Given the description of an element on the screen output the (x, y) to click on. 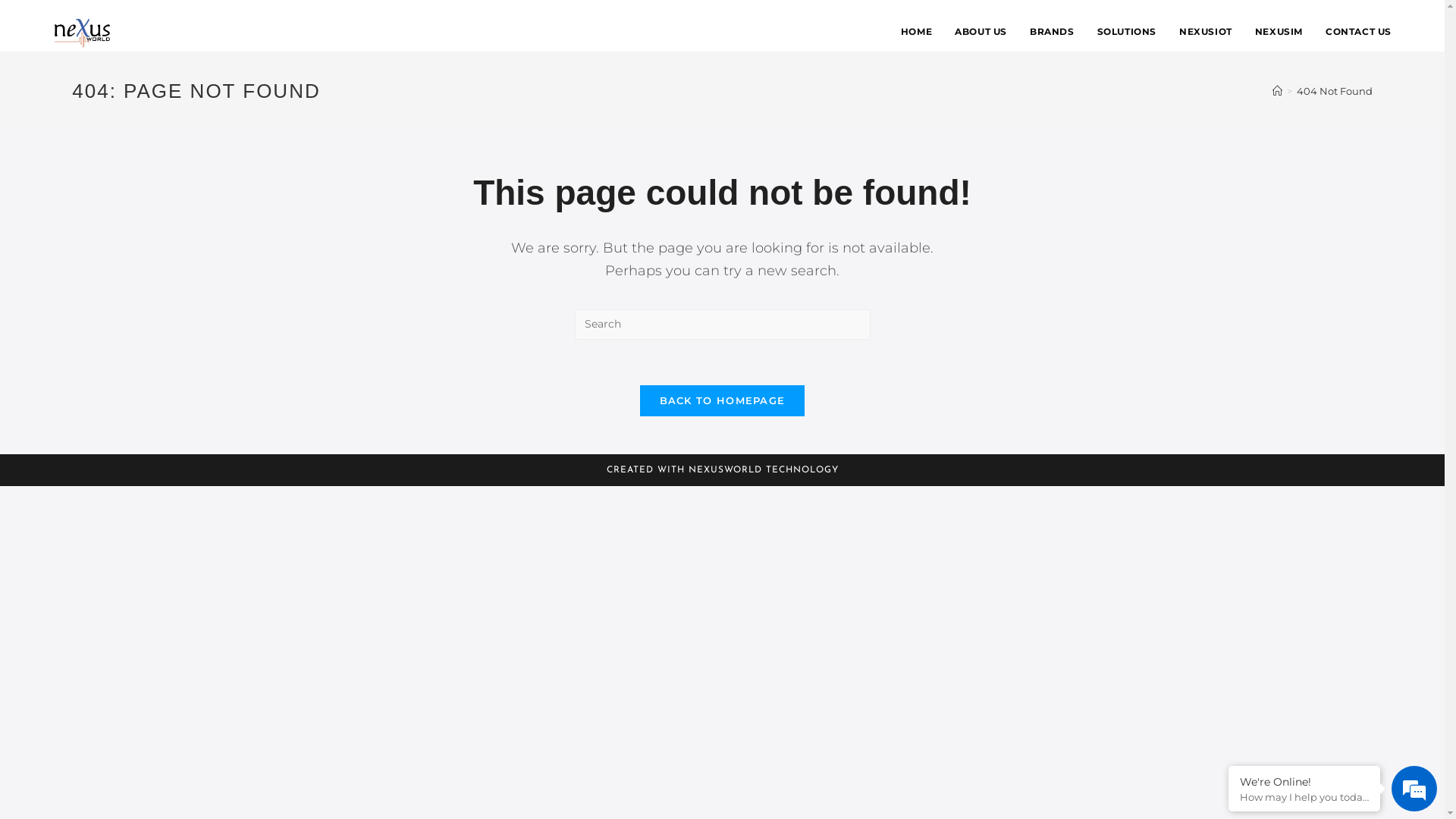
BACK TO HOMEPAGE Element type: text (722, 400)
HOME Element type: text (916, 31)
NEXUSIOT Element type: text (1205, 31)
CONTACT US Element type: text (1358, 31)
BRANDS Element type: text (1051, 31)
ABOUT US Element type: text (980, 31)
NEXUSIM Element type: text (1278, 31)
404 Not Found Element type: text (1334, 90)
SOLUTIONS Element type: text (1126, 31)
